Given the description of an element on the screen output the (x, y) to click on. 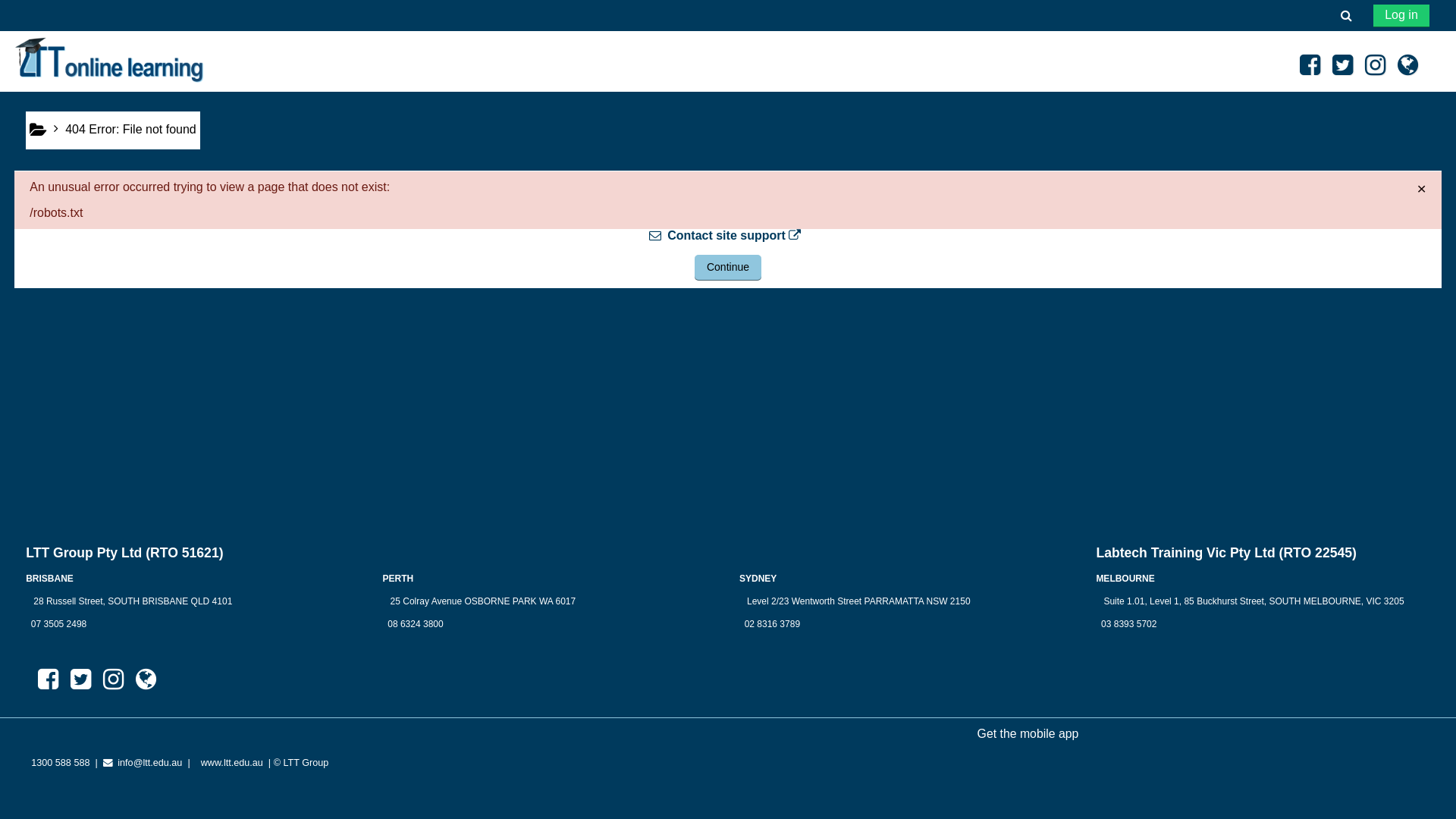
Toggle search input Element type: text (1345, 15)
Get the mobile app Element type: text (1028, 733)
Twitter Element type: hover (80, 679)
Facebook Element type: hover (47, 679)
www.ltt.edu.au Element type: text (231, 762)
Log in Element type: text (1401, 15)
Continue Element type: text (727, 267)
My Web Element type: hover (145, 679)
Instagram Element type: hover (113, 679)
LTT Online Learning Element type: hover (108, 59)
Home Element type: hover (38, 130)
Facebook Element type: hover (1309, 64)
Twitter Element type: hover (1342, 64)
Contact site support Element type: text (727, 235)
Instagram Element type: hover (1374, 64)
My Web Element type: hover (1407, 64)
